Given the description of an element on the screen output the (x, y) to click on. 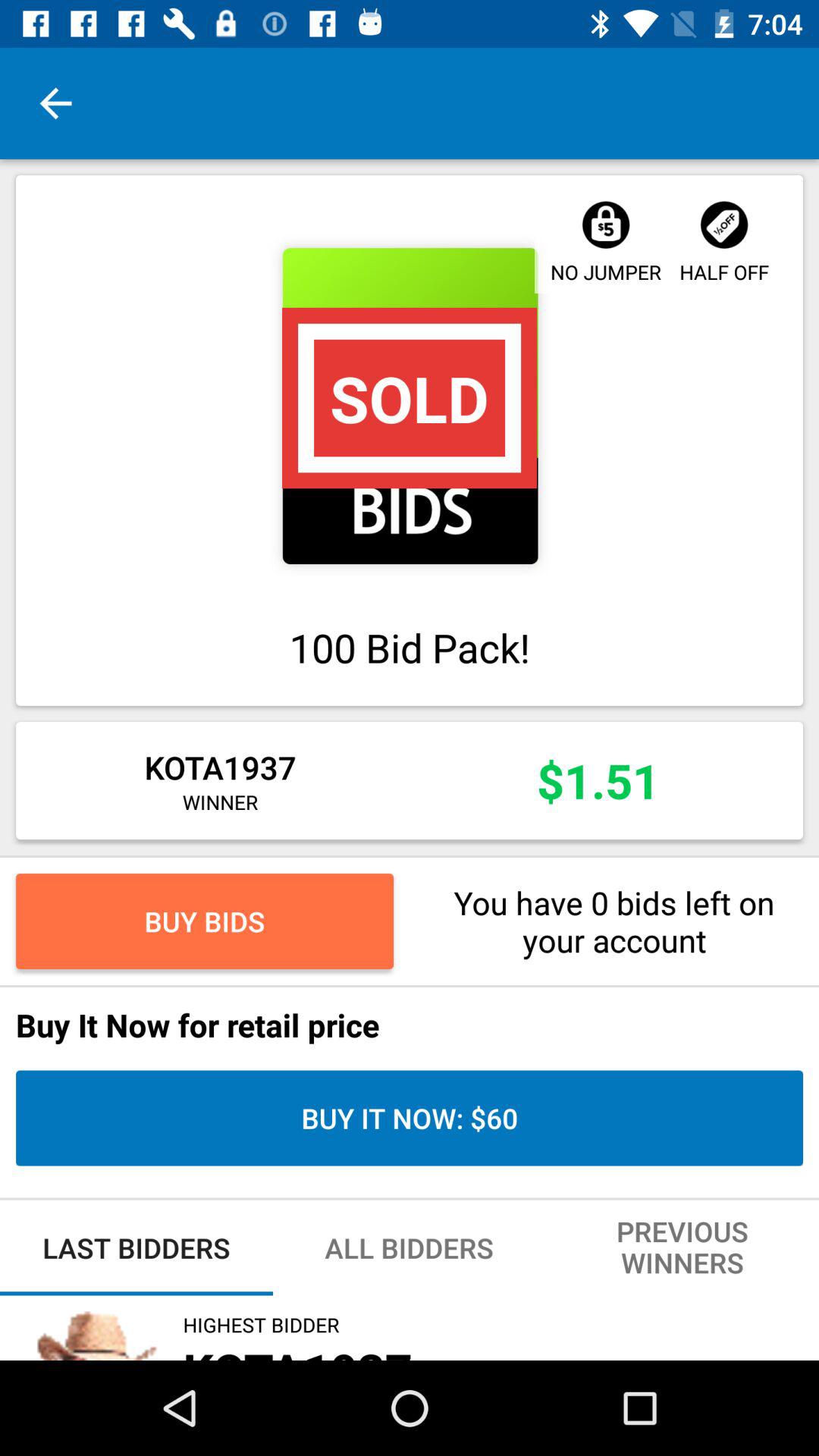
open the icon next to the you have 0 item (204, 921)
